Given the description of an element on the screen output the (x, y) to click on. 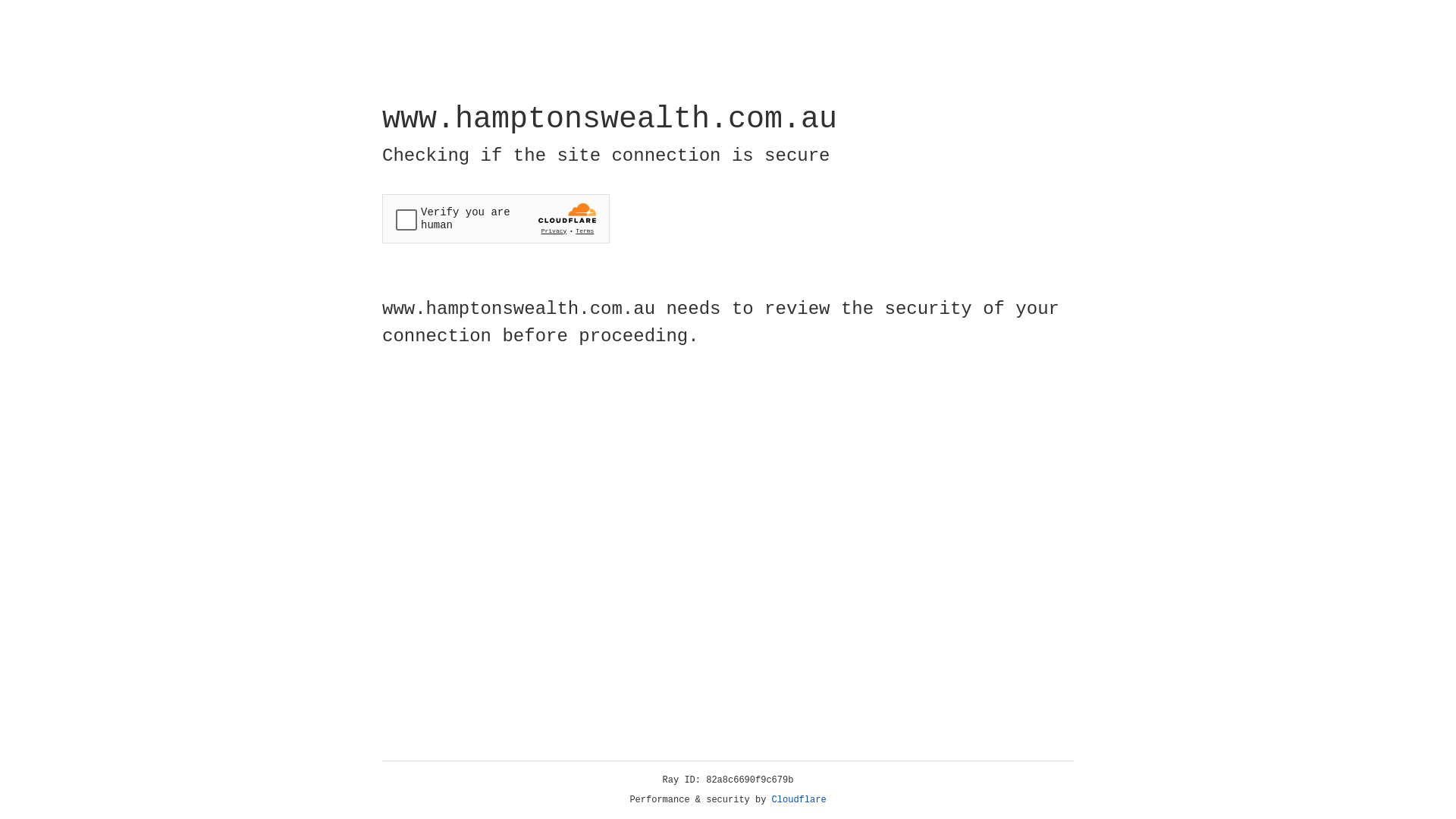
Widget containing a Cloudflare security challenge Element type: hover (495, 218)
Cloudflare Element type: text (798, 799)
